Given the description of an element on the screen output the (x, y) to click on. 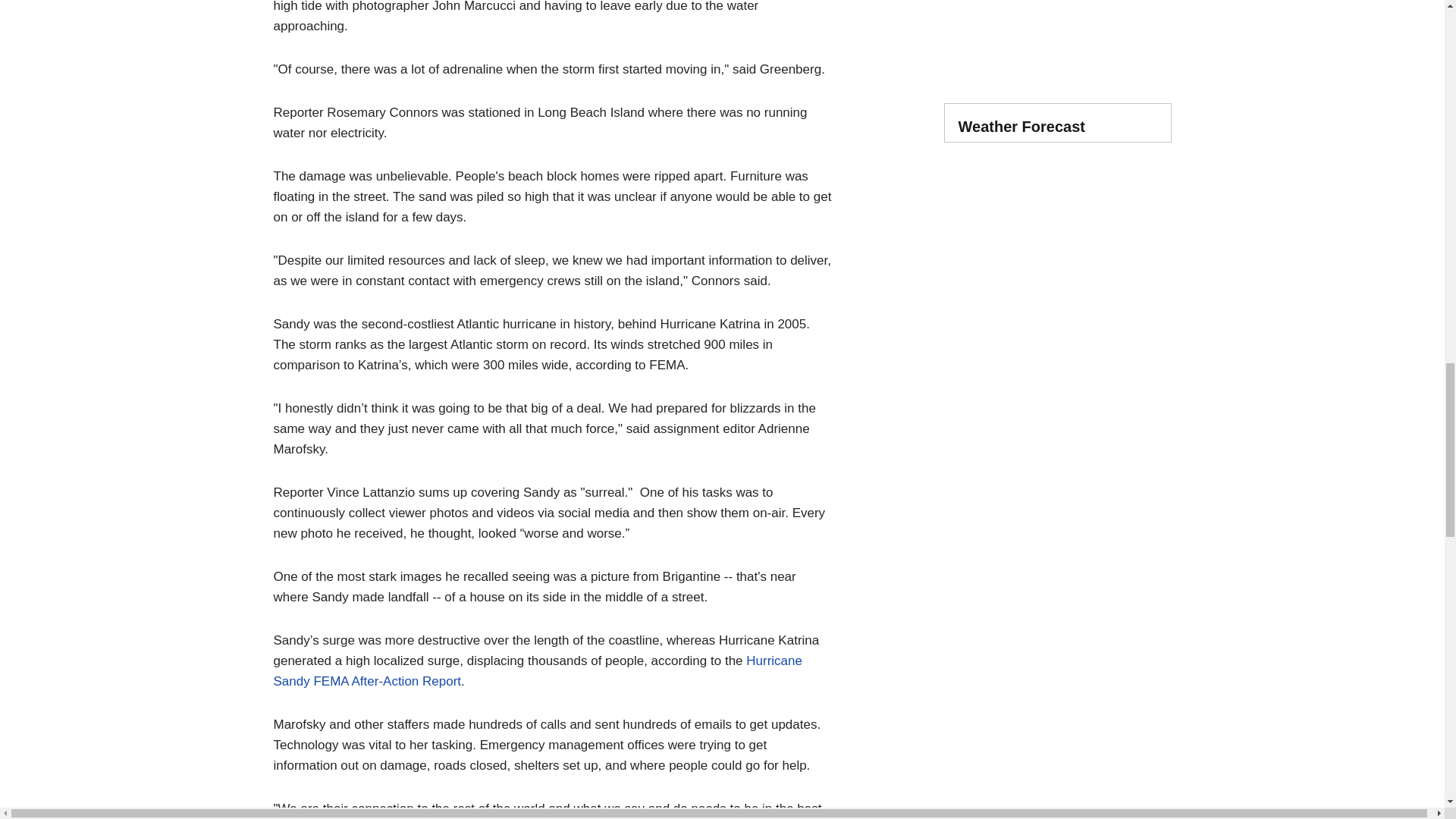
Hurricane Sandy FEMA After-Action Report (537, 670)
